Given the description of an element on the screen output the (x, y) to click on. 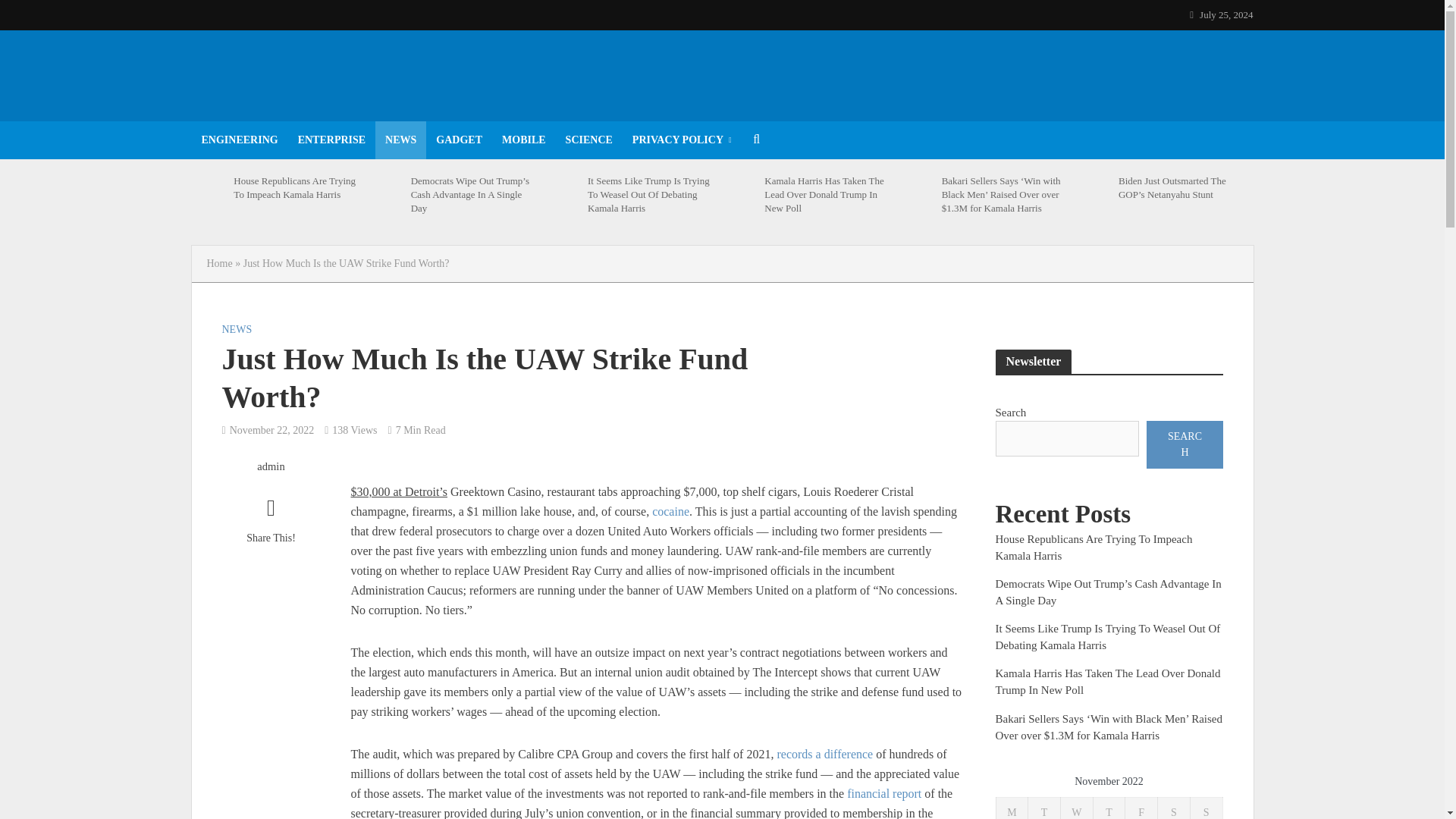
SCIENCE (589, 139)
House Republicans Are Trying To Impeach Kamala Harris (295, 187)
ENTERPRISE (331, 139)
Friday (1141, 808)
Thursday (1109, 808)
PRIVACY POLICY (682, 139)
GADGET (459, 139)
Wednesday (1076, 808)
Monday (1011, 808)
ENGINEERING (238, 139)
NEWS (400, 139)
MOBILE (524, 139)
Tuesday (1044, 808)
